Given the description of an element on the screen output the (x, y) to click on. 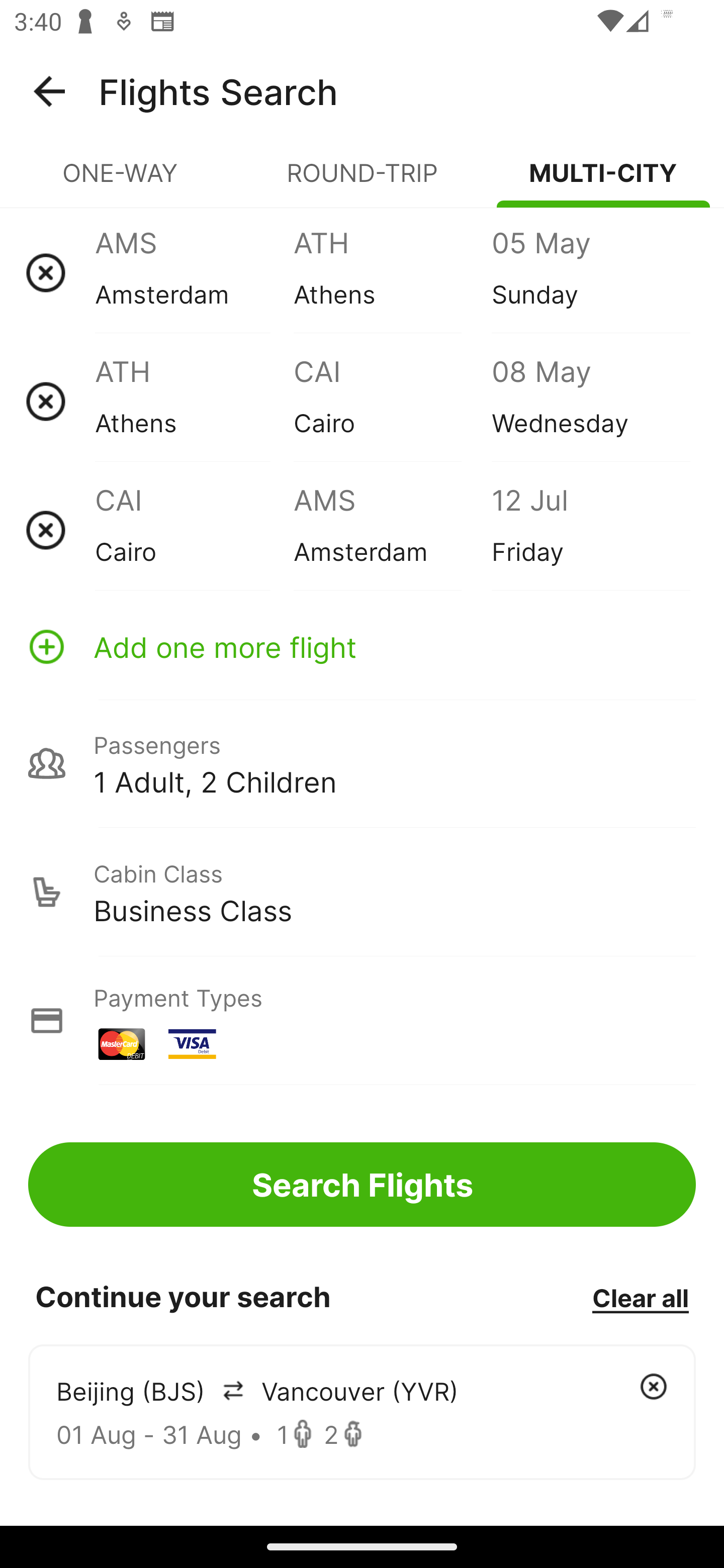
ONE-WAY (120, 180)
ROUND-TRIP (361, 180)
MULTI-CITY (603, 180)
AMS Amsterdam (193, 272)
ATH Athens (392, 272)
05 May Sunday (590, 272)
ATH Athens (193, 401)
CAI Cairo (392, 401)
08 May Wednesday (590, 401)
CAI Cairo (193, 529)
AMS Amsterdam (392, 529)
12 Jul Friday (590, 529)
Add one more flight (362, 646)
Passengers 1 Adult, 2 Children (362, 762)
Cabin Class Business Class (362, 891)
Payment Types (362, 1020)
Search Flights (361, 1184)
Clear all (640, 1297)
